Given the description of an element on the screen output the (x, y) to click on. 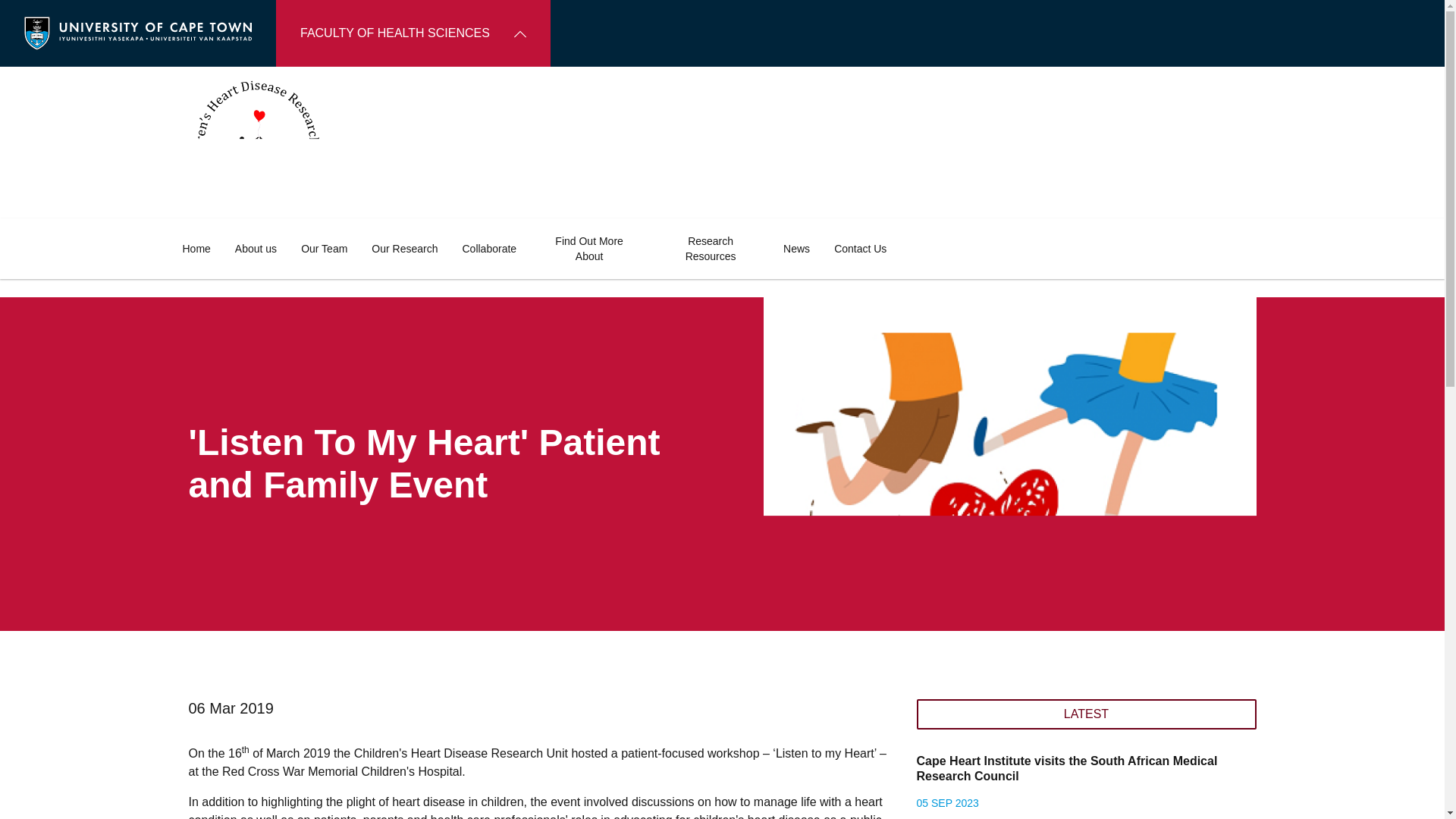
FACULTY OF HEALTH SCIENCES (413, 33)
Home (137, 31)
